Given the description of an element on the screen output the (x, y) to click on. 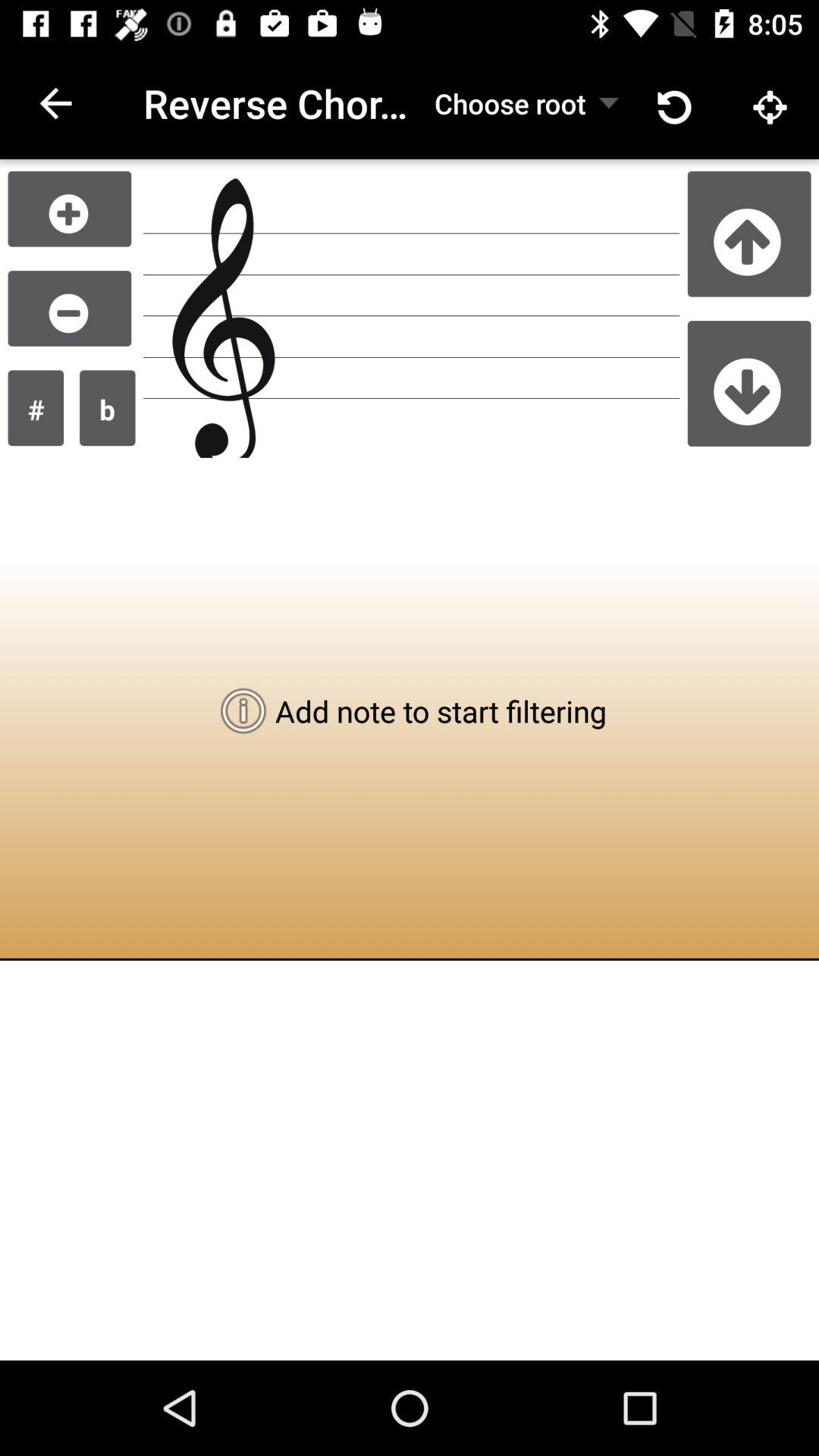
up arrow (749, 233)
